Given the description of an element on the screen output the (x, y) to click on. 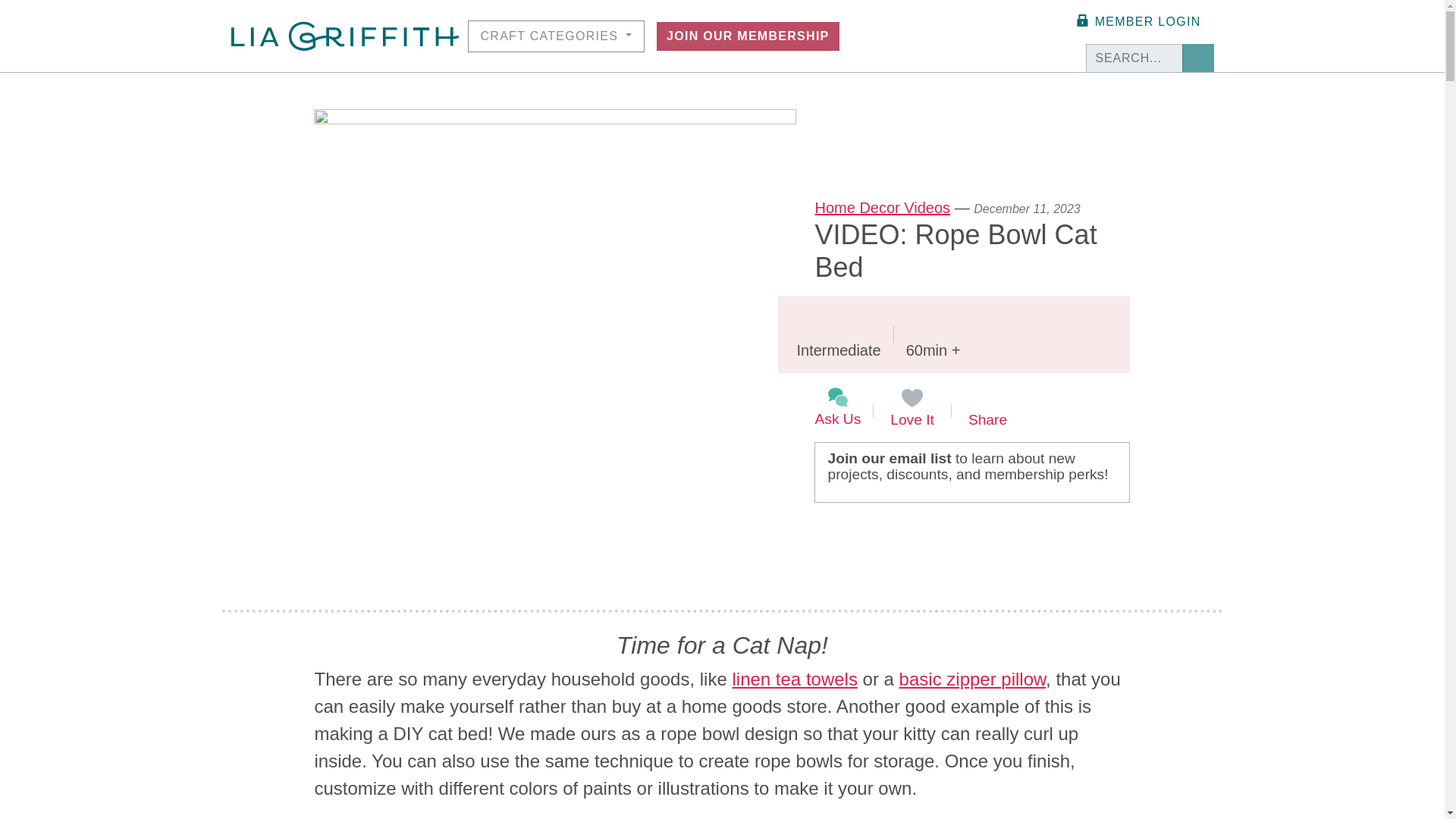
CRAFT CATEGORIES (556, 35)
Home Decor Videos (881, 207)
basic zipper pillow (972, 679)
Love It (912, 407)
Share (987, 407)
Ask Us (836, 408)
linen tea towels (794, 679)
JOIN OUR MEMBERSHIP (748, 35)
MEMBER LOGIN (1136, 21)
